Given the description of an element on the screen output the (x, y) to click on. 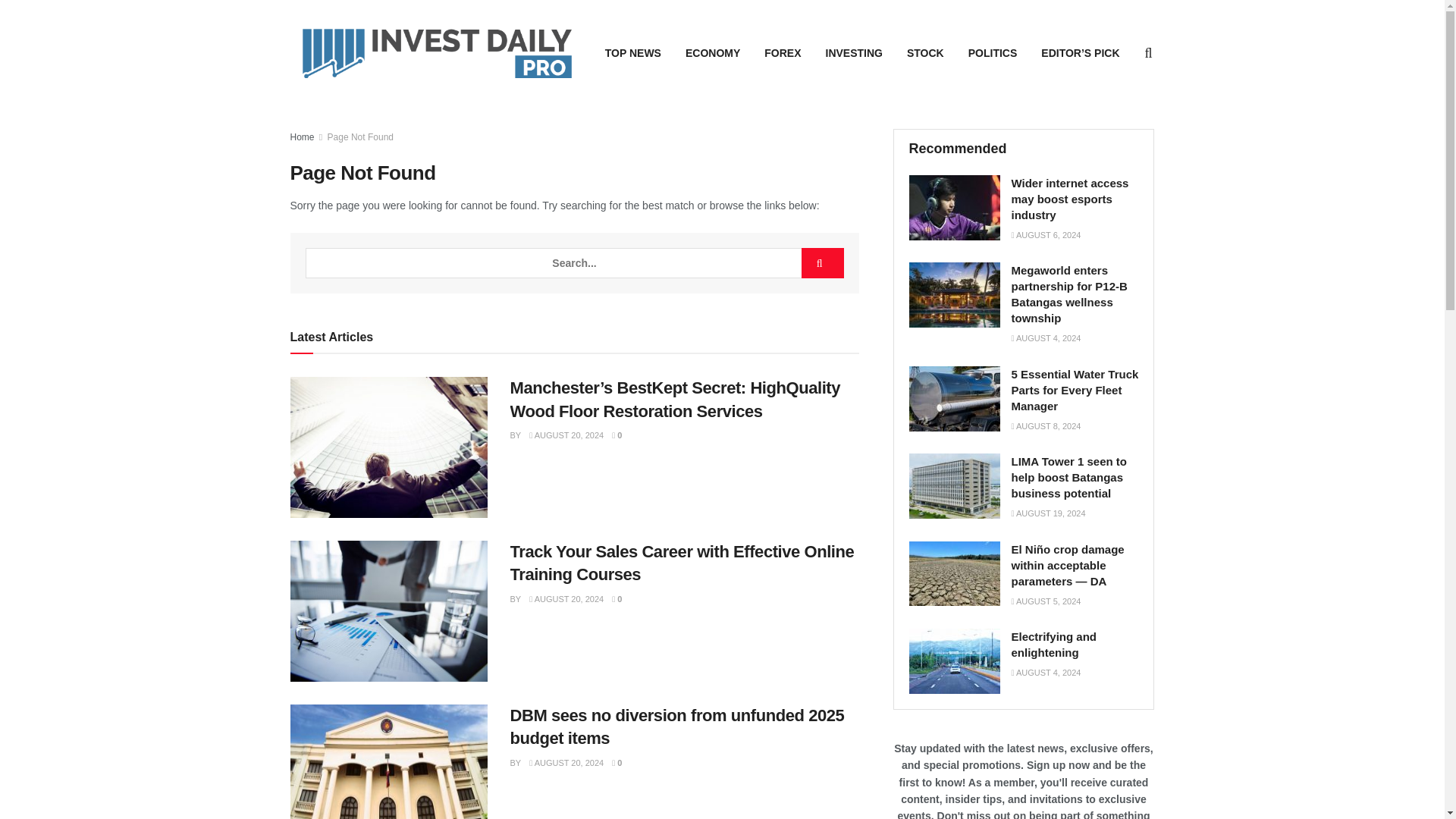
AUGUST 20, 2024 (566, 598)
INVESTING (854, 53)
STOCK (925, 53)
AUGUST 20, 2024 (566, 762)
0 (616, 434)
ECONOMY (712, 53)
Page Not Found (360, 136)
POLITICS (992, 53)
Home (301, 136)
